Given the description of an element on the screen output the (x, y) to click on. 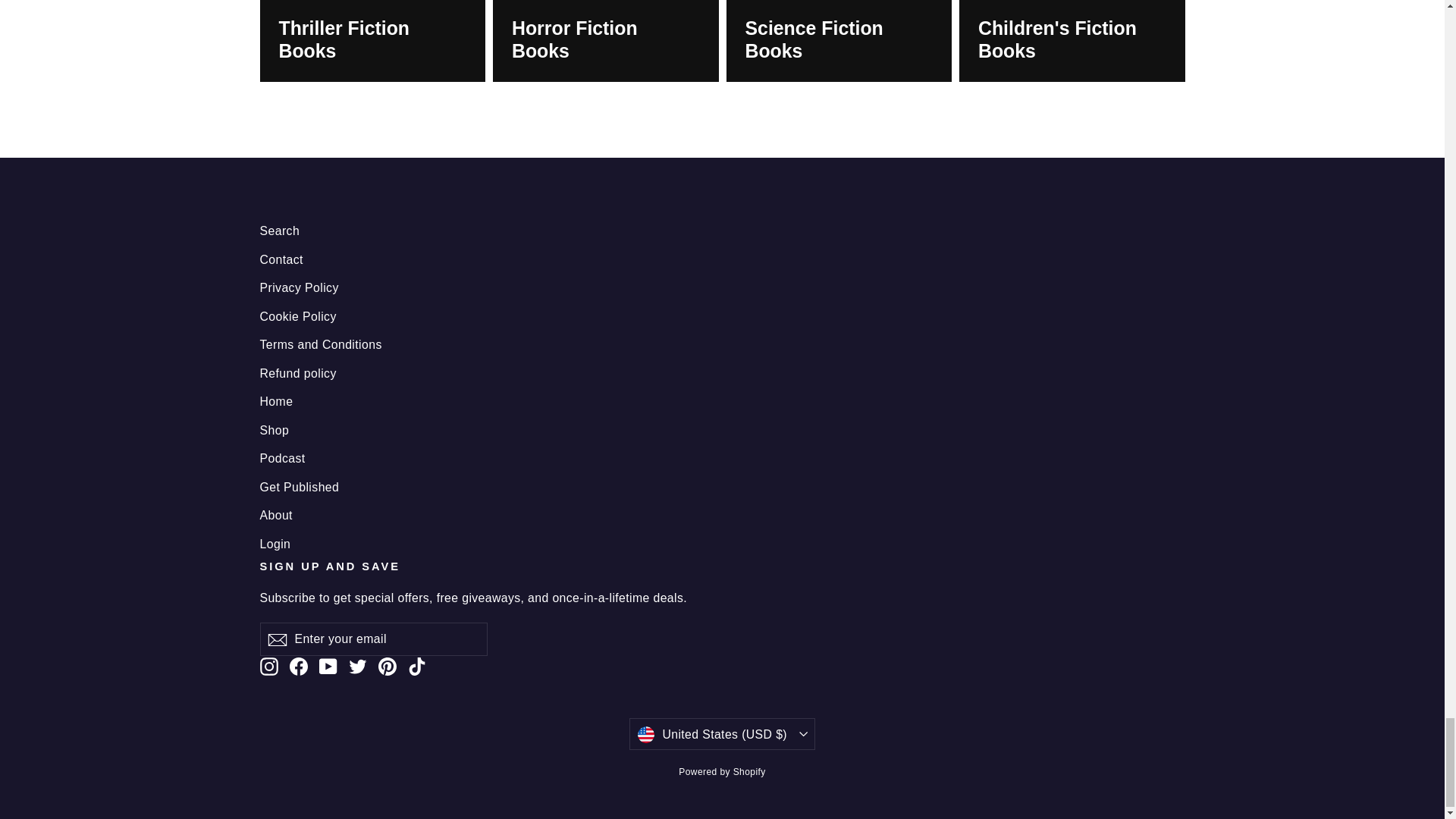
instagram (268, 666)
Hangar1publishing on Twitter (357, 666)
twitter (357, 666)
icon-email (276, 639)
Hangar1publishing on Facebook (298, 666)
Hangar1publishing on YouTube (327, 666)
Hangar1publishing on TikTok (416, 666)
